Given the description of an element on the screen output the (x, y) to click on. 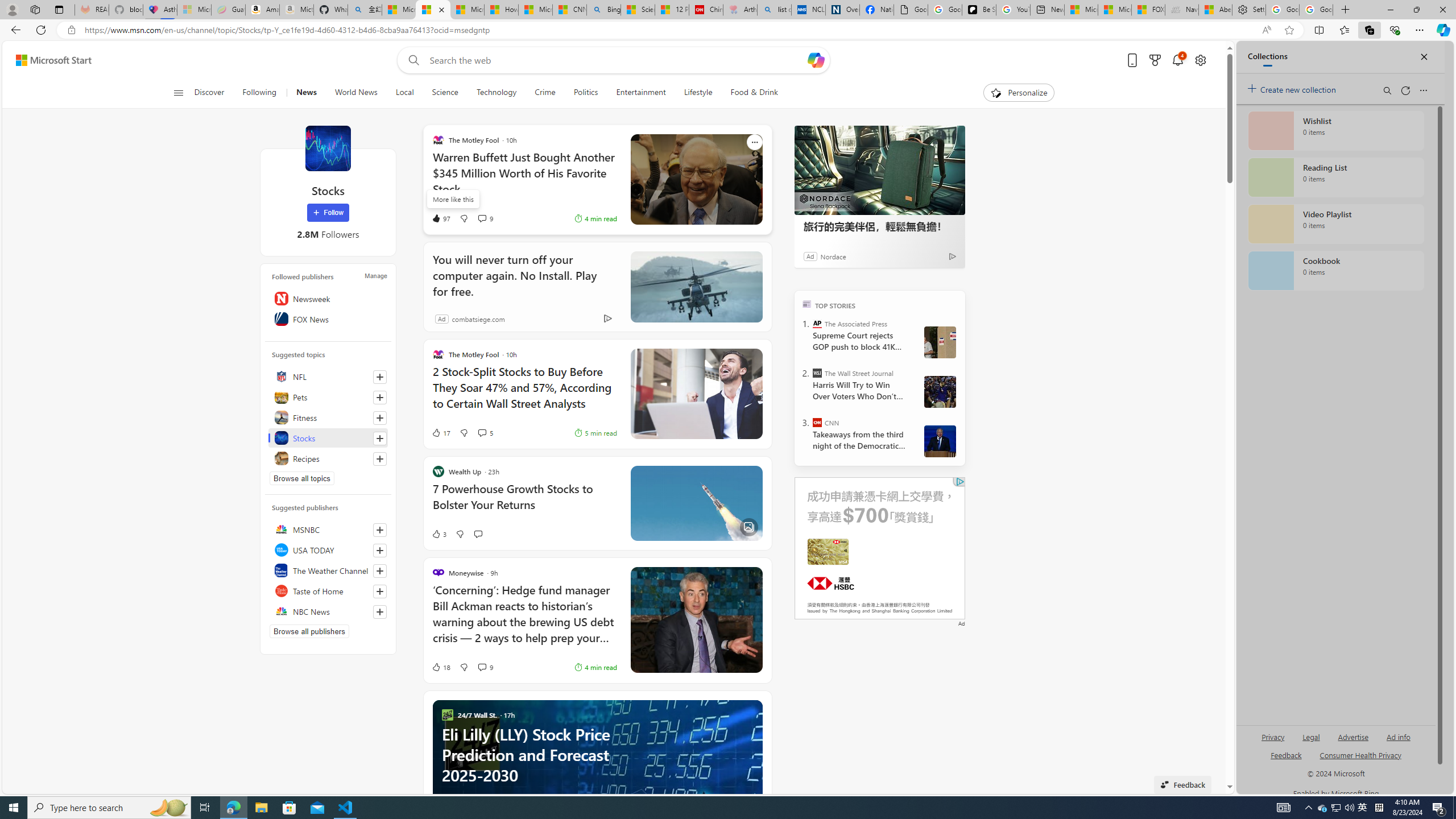
17 Like (440, 432)
AutomationID: sb_feedback (1286, 754)
The Associated Press (816, 323)
NFL (327, 376)
AutomationID: canvas (879, 548)
FOX News (327, 318)
Newsweek (327, 298)
